Given the description of an element on the screen output the (x, y) to click on. 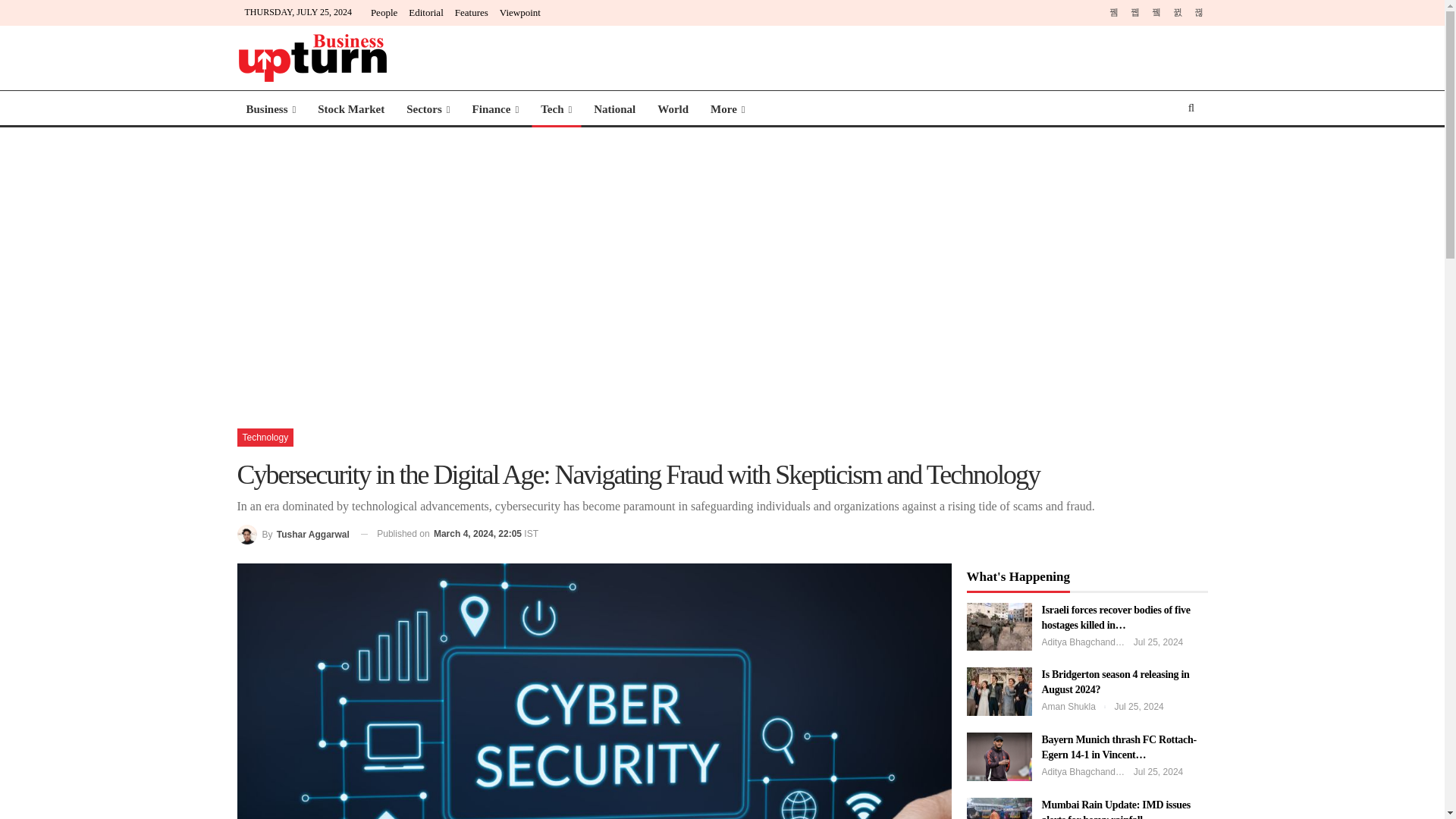
Editorial (426, 12)
Viewpoint (519, 12)
Business (269, 108)
Stock Market (350, 108)
Sectors (427, 108)
Finance (495, 108)
Browse Author Articles (292, 534)
People (384, 12)
Features (470, 12)
